Given the description of an element on the screen output the (x, y) to click on. 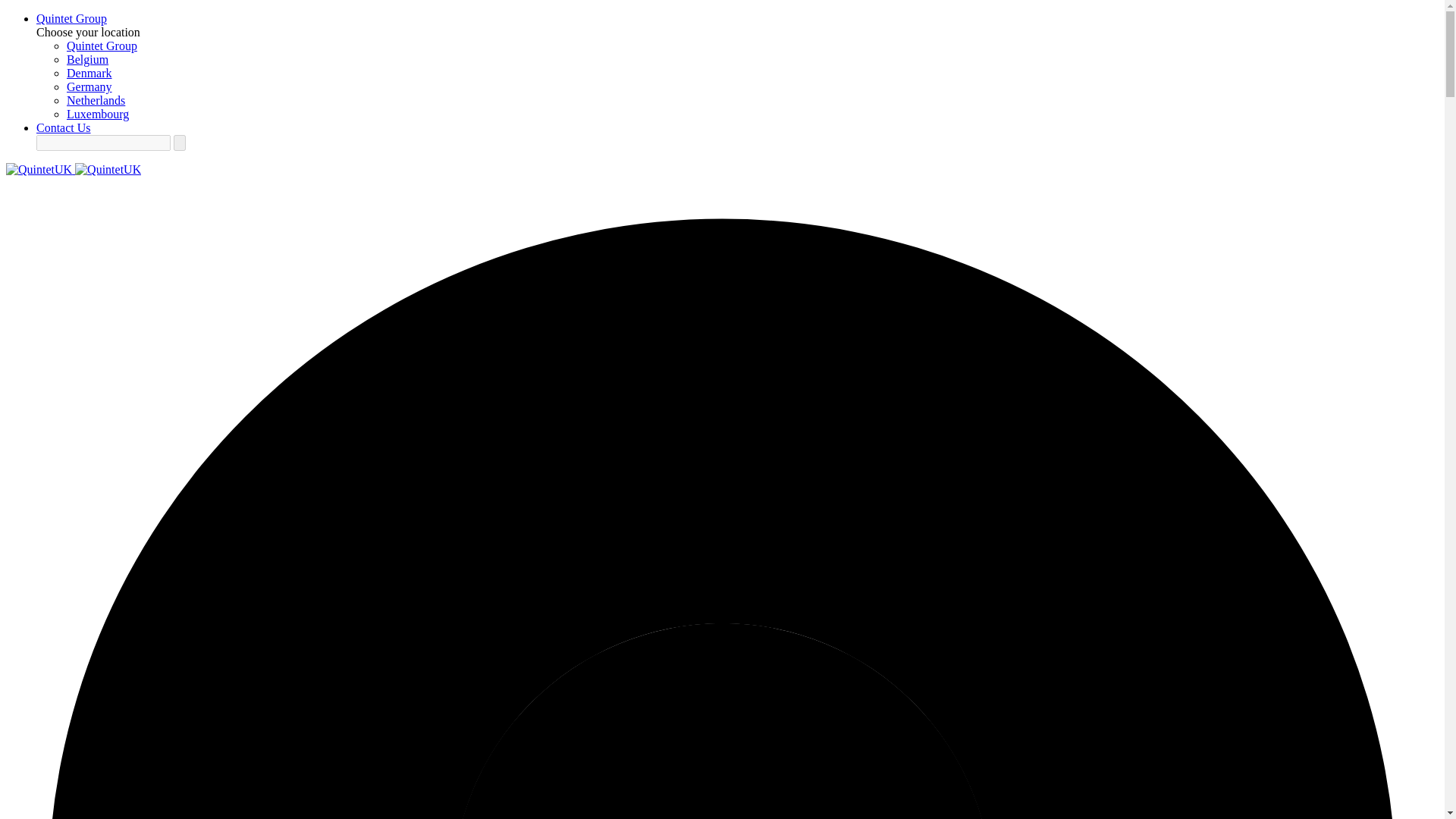
Denmark (89, 72)
Luxembourg (97, 113)
Contact Us (63, 127)
Quintet Group (71, 18)
Belgium (86, 59)
Germany (89, 86)
Quintet Group (101, 45)
Home (73, 169)
Netherlands (95, 100)
